Given the description of an element on the screen output the (x, y) to click on. 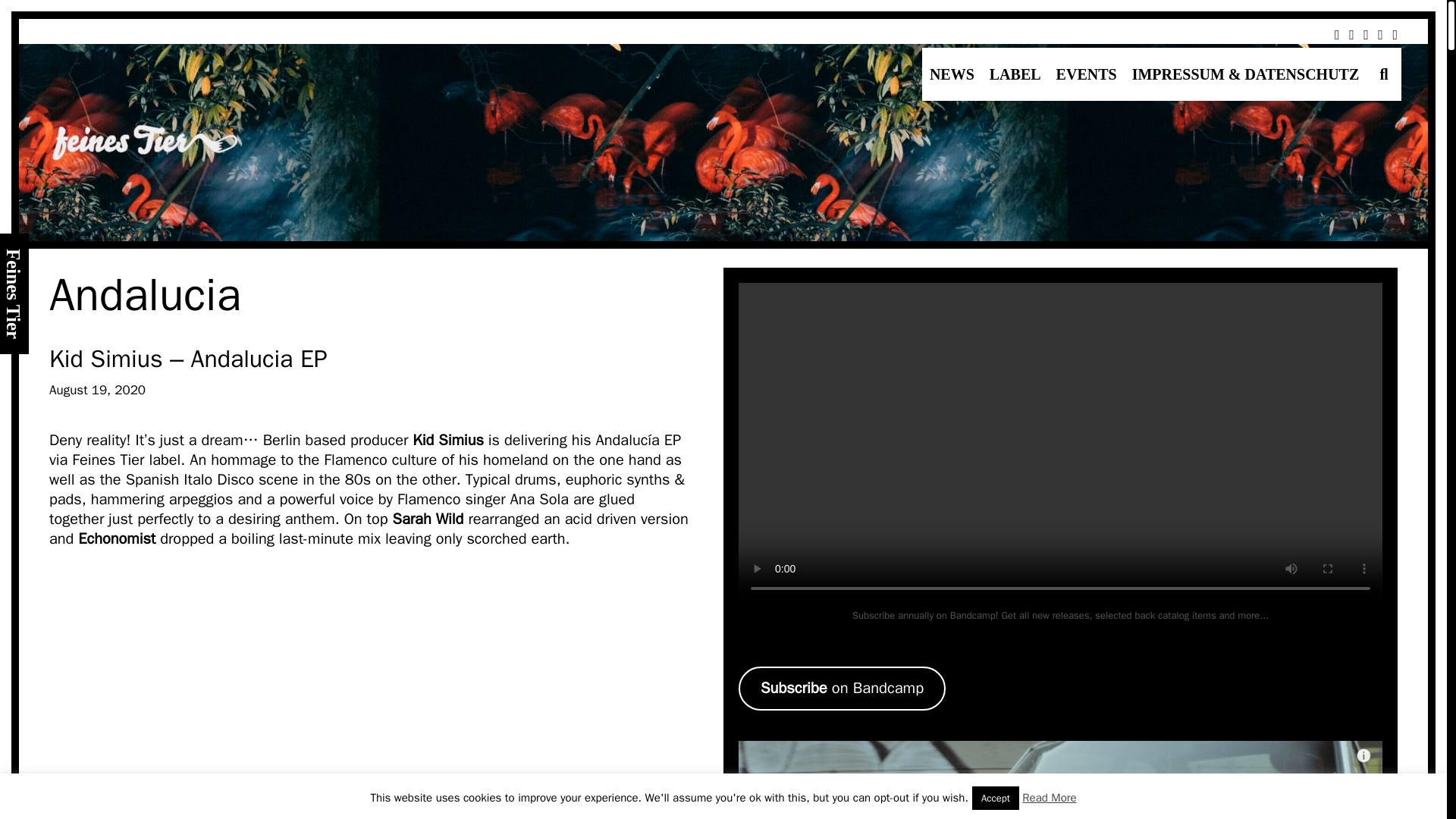
LABEL (1014, 73)
August 19, 2020 (97, 390)
Subscribe on Bandcamp (841, 688)
Search (239, 26)
Feines Tier (143, 142)
11:15 am (97, 390)
Feines Tier (143, 140)
EVENTS (1086, 73)
